Given the description of an element on the screen output the (x, y) to click on. 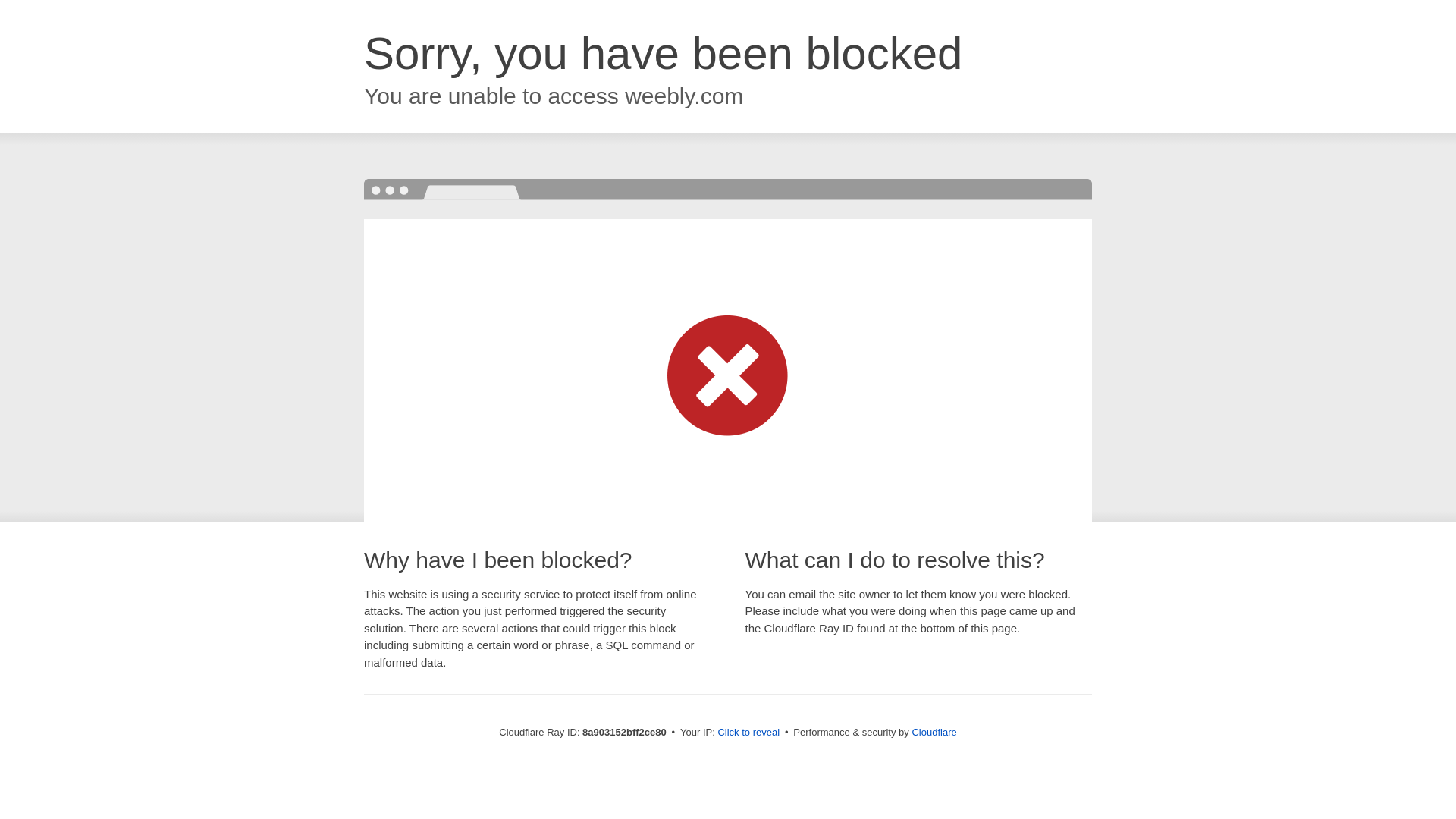
Cloudflare (933, 731)
Click to reveal (747, 732)
